Given the description of an element on the screen output the (x, y) to click on. 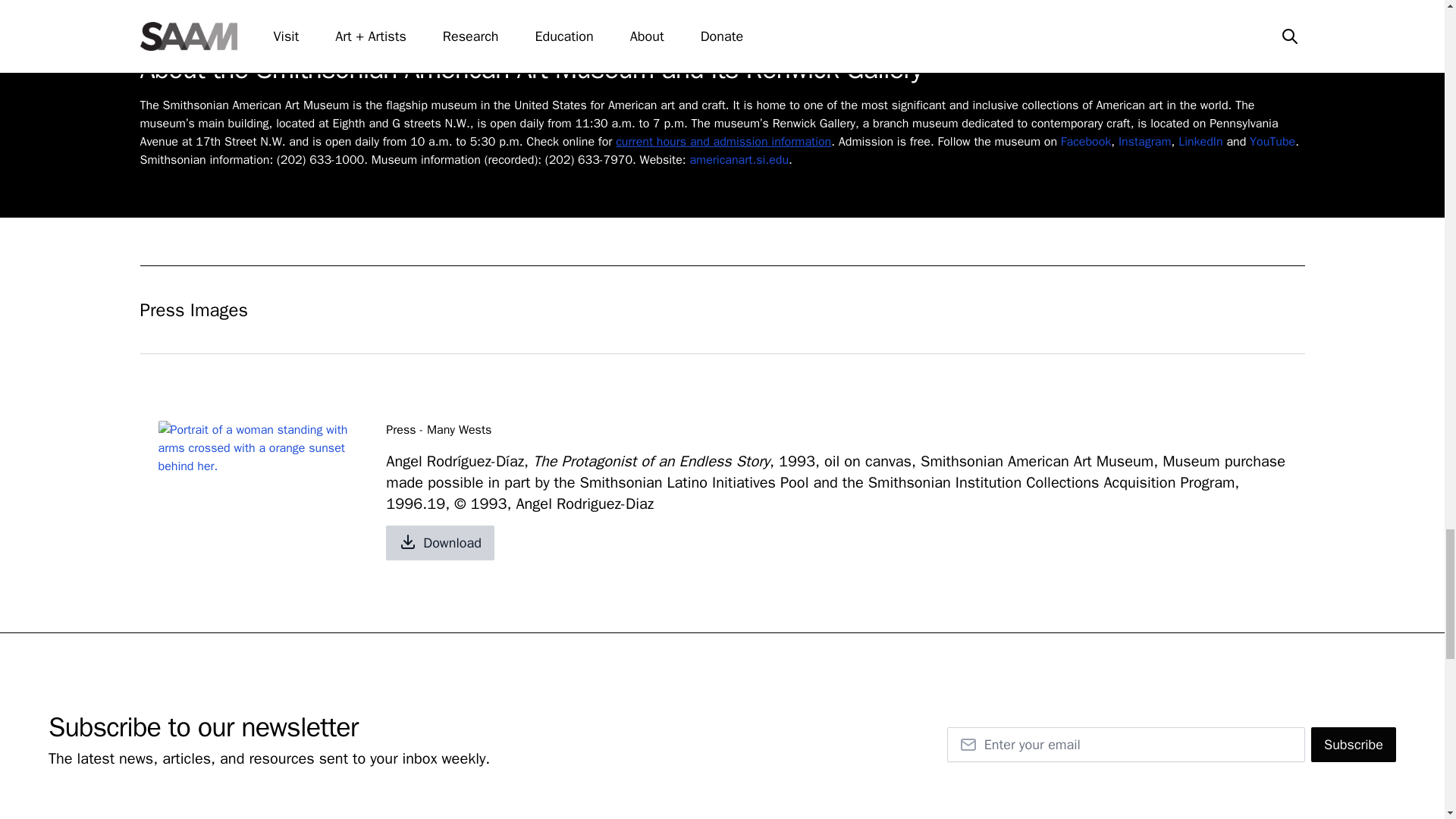
Press Images (721, 308)
